Given the description of an element on the screen output the (x, y) to click on. 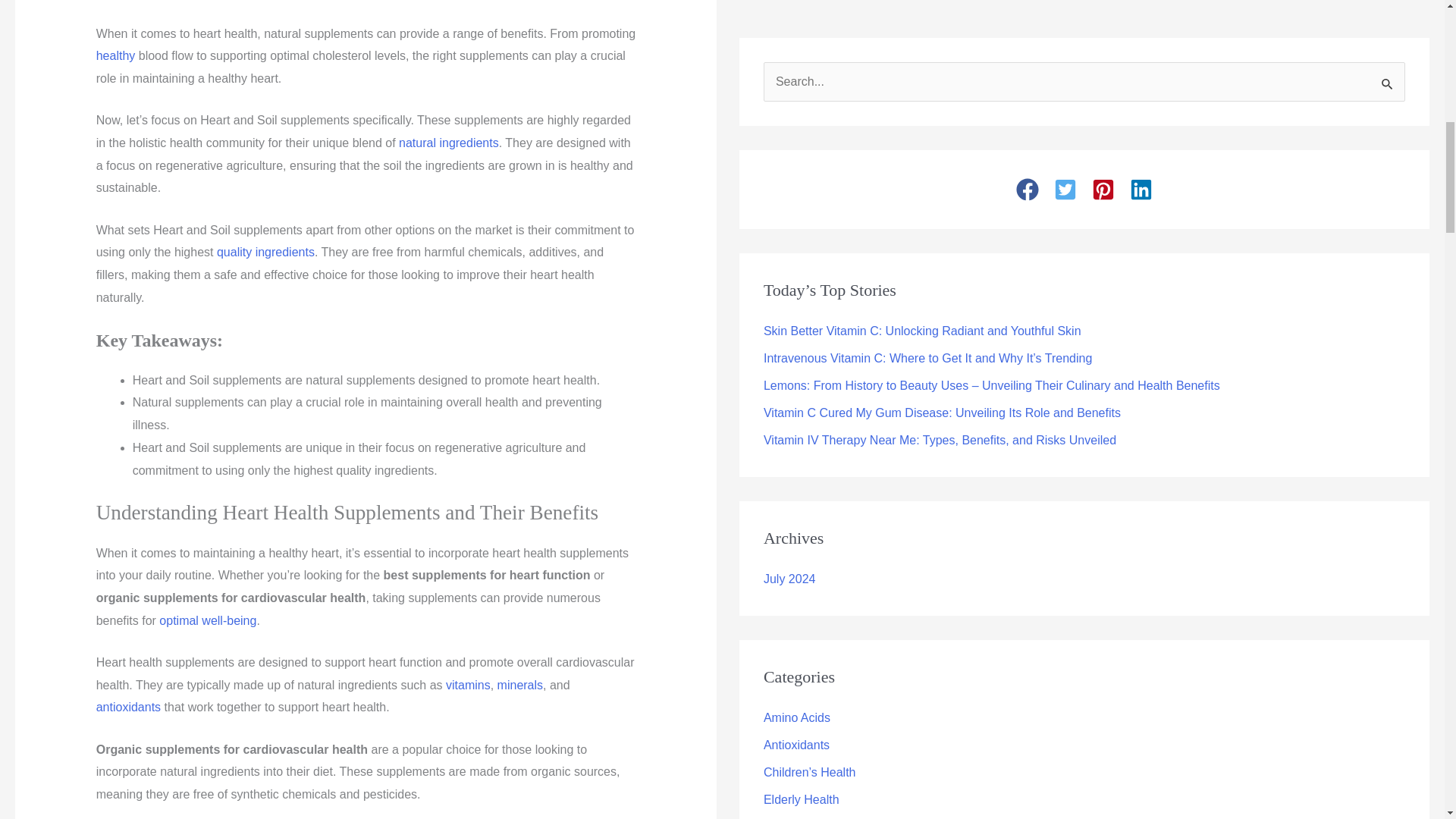
natural ingredients (448, 142)
antioxidants (128, 707)
quality ingredients (265, 251)
healthy (115, 55)
optimal well-being (207, 620)
vitamins (467, 684)
minerals (520, 684)
